Given the description of an element on the screen output the (x, y) to click on. 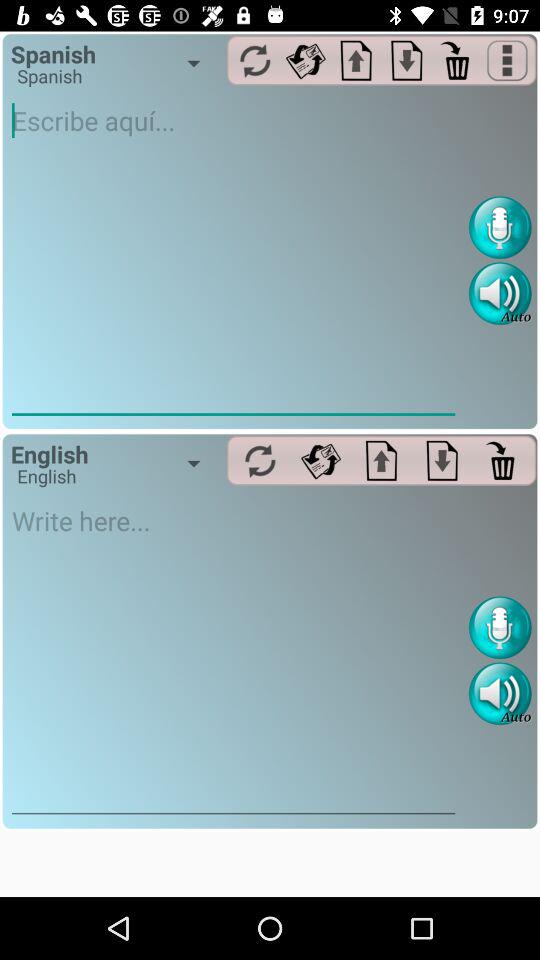
go to download option (406, 60)
